Given the description of an element on the screen output the (x, y) to click on. 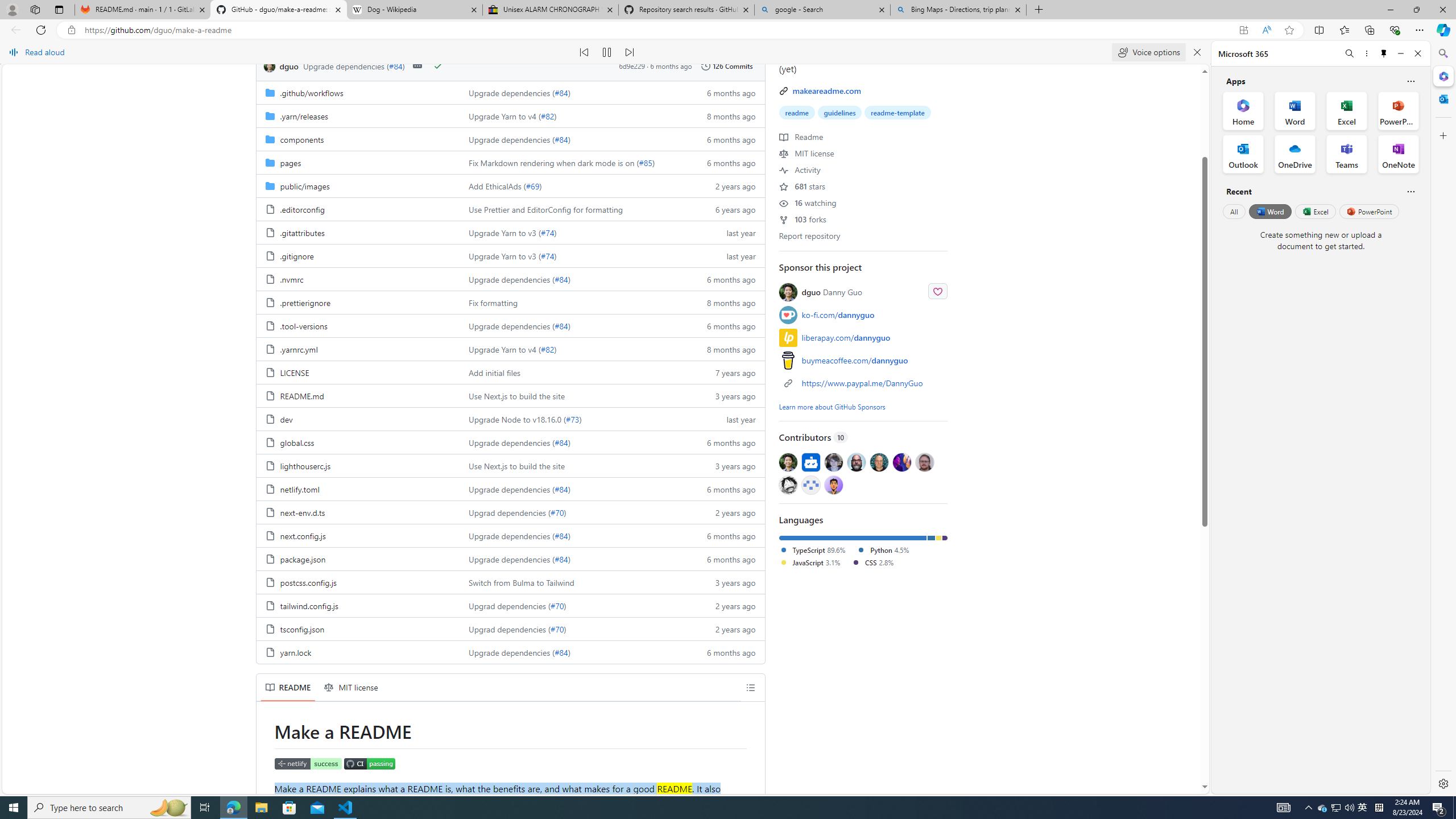
AutomationID: folder-row-3 (510, 161)
AutomationID: folder-row-7 (510, 255)
pages, (Directory) (358, 161)
@dguo (787, 461)
Commit 6d9e229 (631, 65)
tsconfig.json, (File) (301, 628)
Open commit details (417, 65)
pages, (Directory) (290, 162)
global.css, (File) (358, 441)
Contributors 10 (862, 436)
README (287, 687)
LICENSE, (File) (293, 372)
@mstrzele (809, 484)
next-env.d.ts, (File) (358, 512)
